Given the description of an element on the screen output the (x, y) to click on. 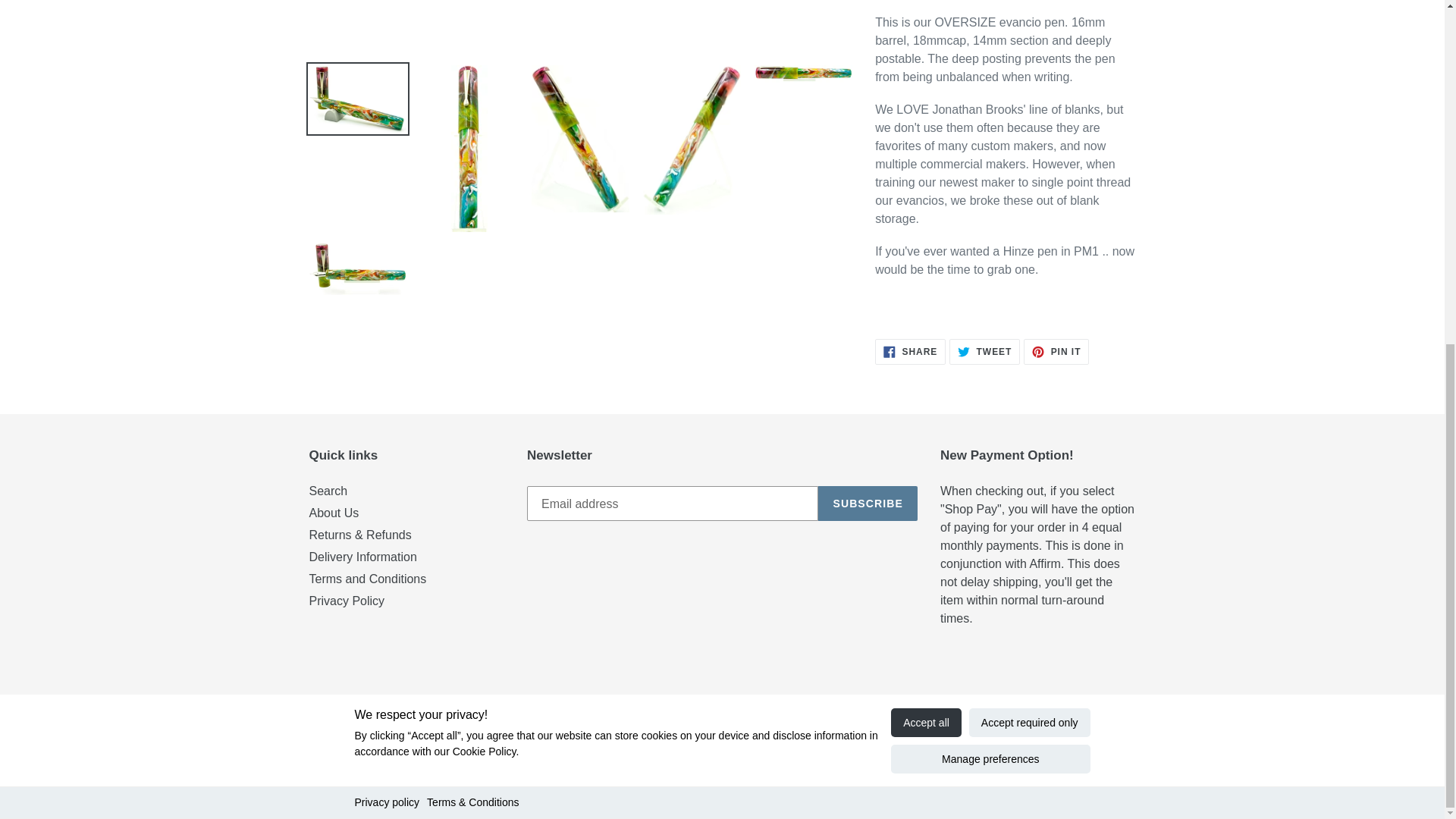
Accept all (925, 133)
Accept required only (1029, 133)
Privacy policy (387, 214)
Manage preferences (990, 170)
